Given the description of an element on the screen output the (x, y) to click on. 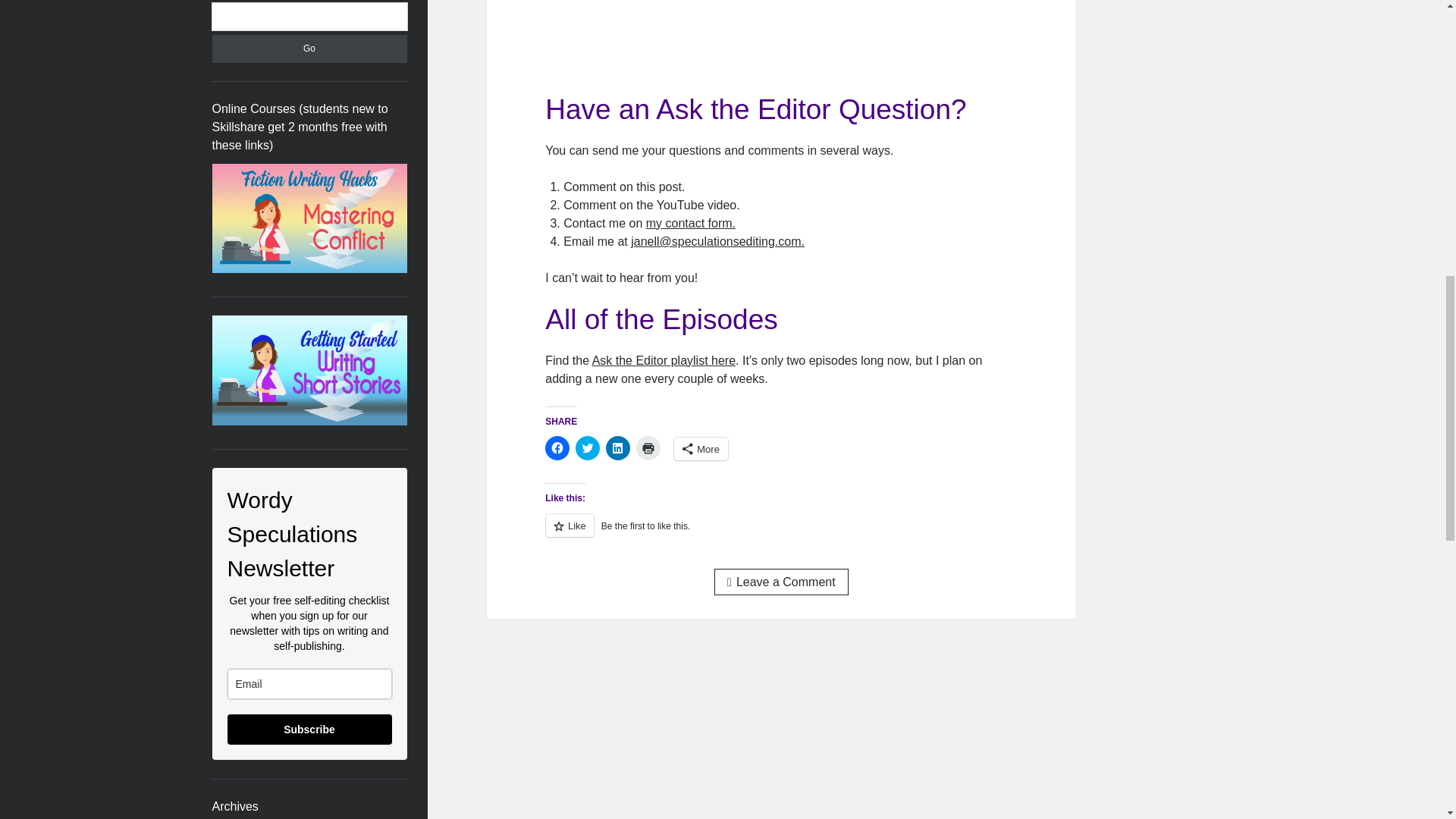
Subscribe (309, 729)
Search for: (309, 16)
Go (309, 49)
Click to print (648, 447)
Click to share on Facebook (556, 447)
Go (309, 49)
Click to share on Twitter (587, 447)
Go (309, 49)
Click to share on LinkedIn (617, 447)
Like or Reblog (780, 534)
